Given the description of an element on the screen output the (x, y) to click on. 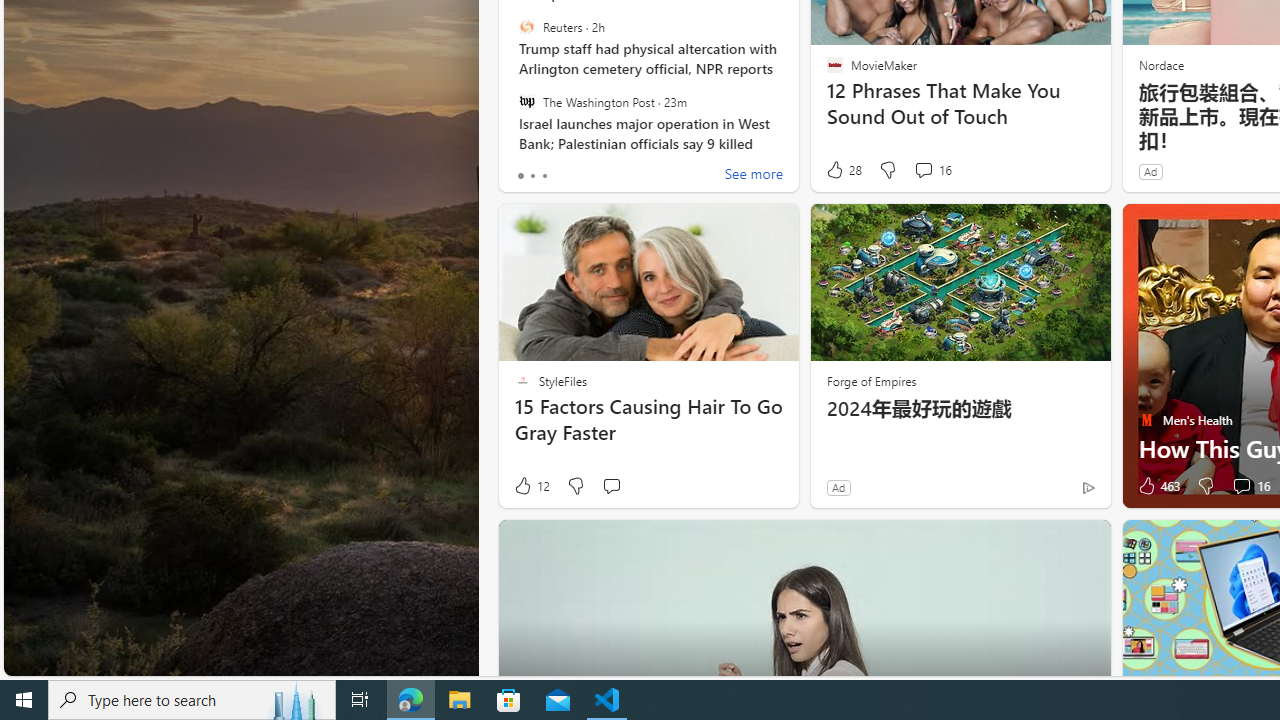
tab-2 (543, 175)
View comments 16 Comment (1241, 485)
View comments 16 Comment (1249, 485)
